Given the description of an element on the screen output the (x, y) to click on. 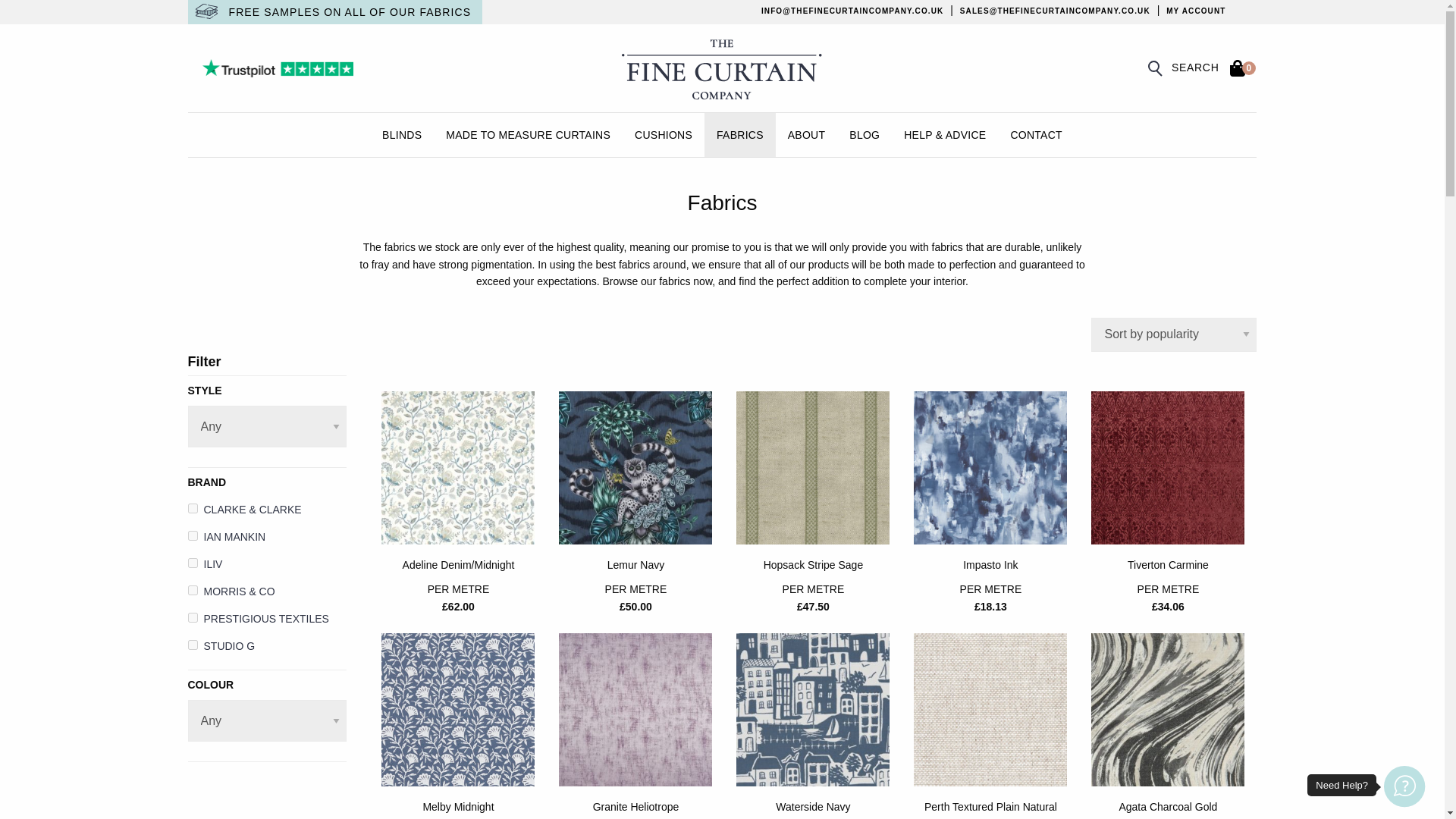
0 (1237, 68)
CUSHIONS (663, 135)
on (192, 535)
CONTACT (1035, 135)
FREE SAMPLES ON ALL OF OUR FABRICS (345, 14)
MADE TO MEASURE CURTAINS (528, 135)
ABOUT (807, 135)
on (192, 562)
on (192, 644)
SEARCH (1186, 67)
on (192, 508)
BLINDS (401, 135)
on (192, 590)
BLOG (864, 135)
MY ACCOUNT (1194, 10)
